Given the description of an element on the screen output the (x, y) to click on. 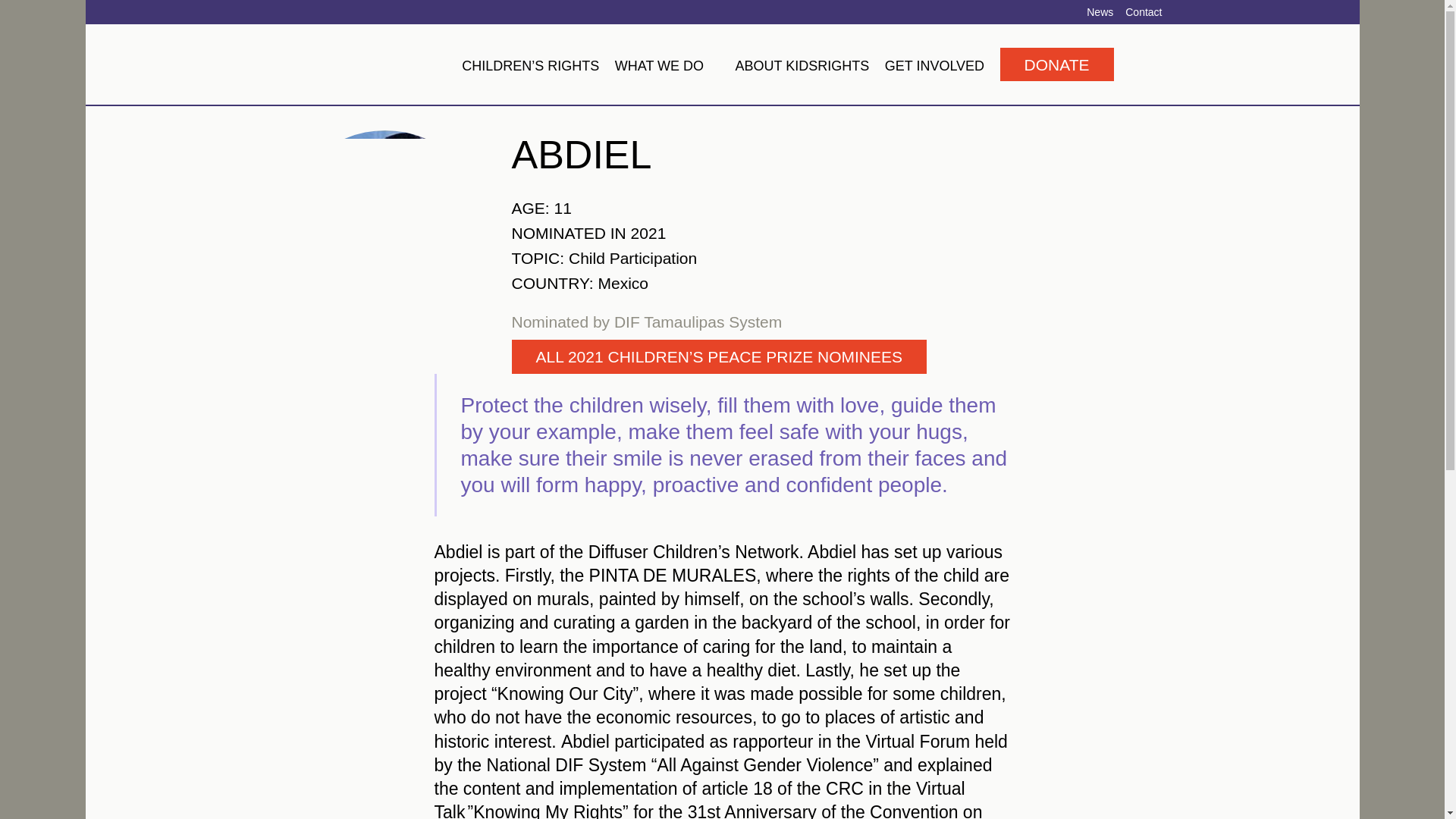
GET INVOLVED (934, 65)
KidsRights Foundation (366, 63)
WHAT WE DO (666, 65)
Contact (1143, 11)
Search (1137, 64)
News (1099, 11)
DONATE (1056, 63)
ABOUT KIDSRIGHTS (802, 65)
